Given the description of an element on the screen output the (x, y) to click on. 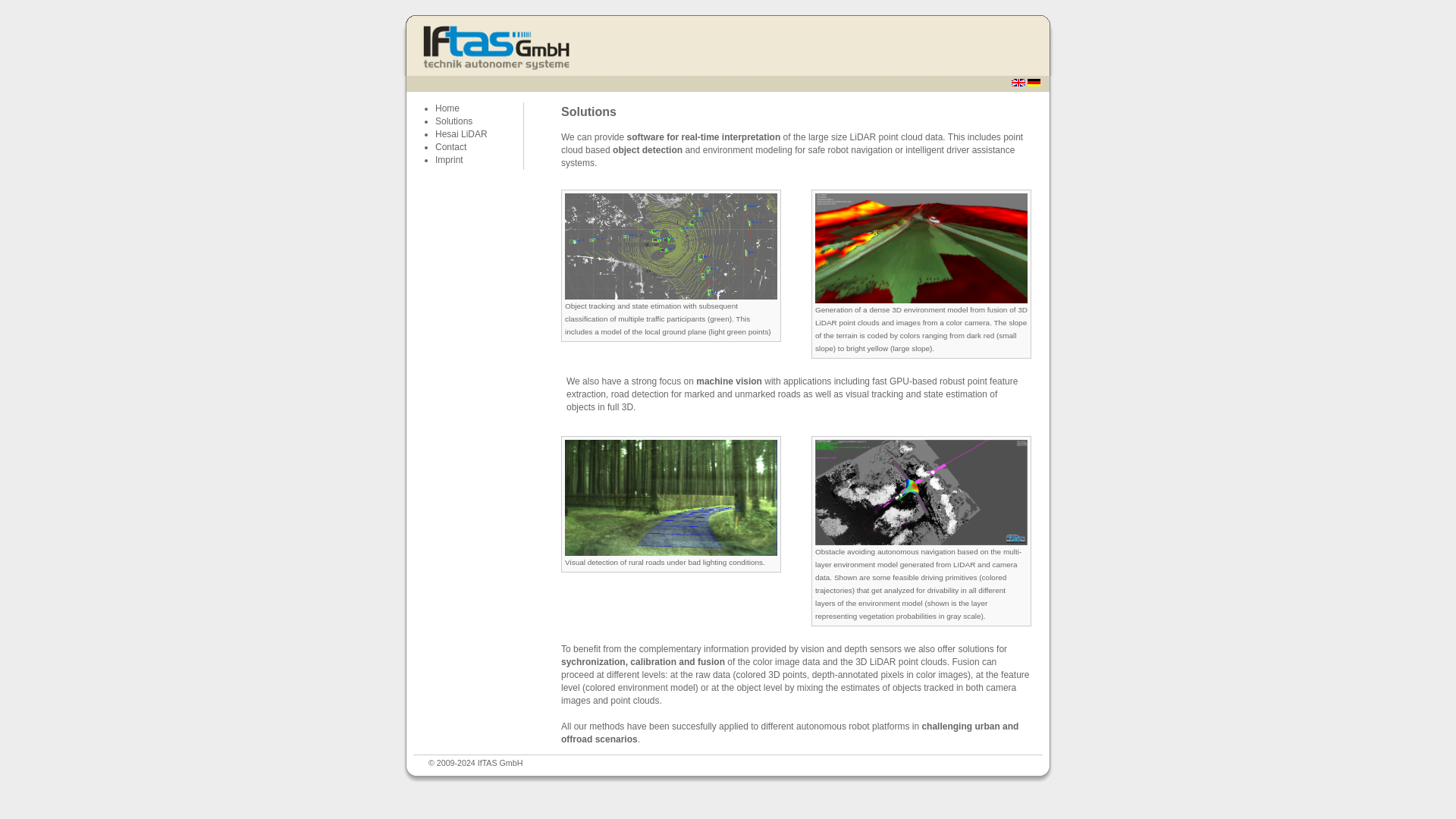
deutsch (1034, 82)
Imprint (449, 159)
Home (447, 108)
Hesai LiDAR (461, 133)
english (1018, 82)
Solutions (453, 121)
Contact (450, 146)
